Given the description of an element on the screen output the (x, y) to click on. 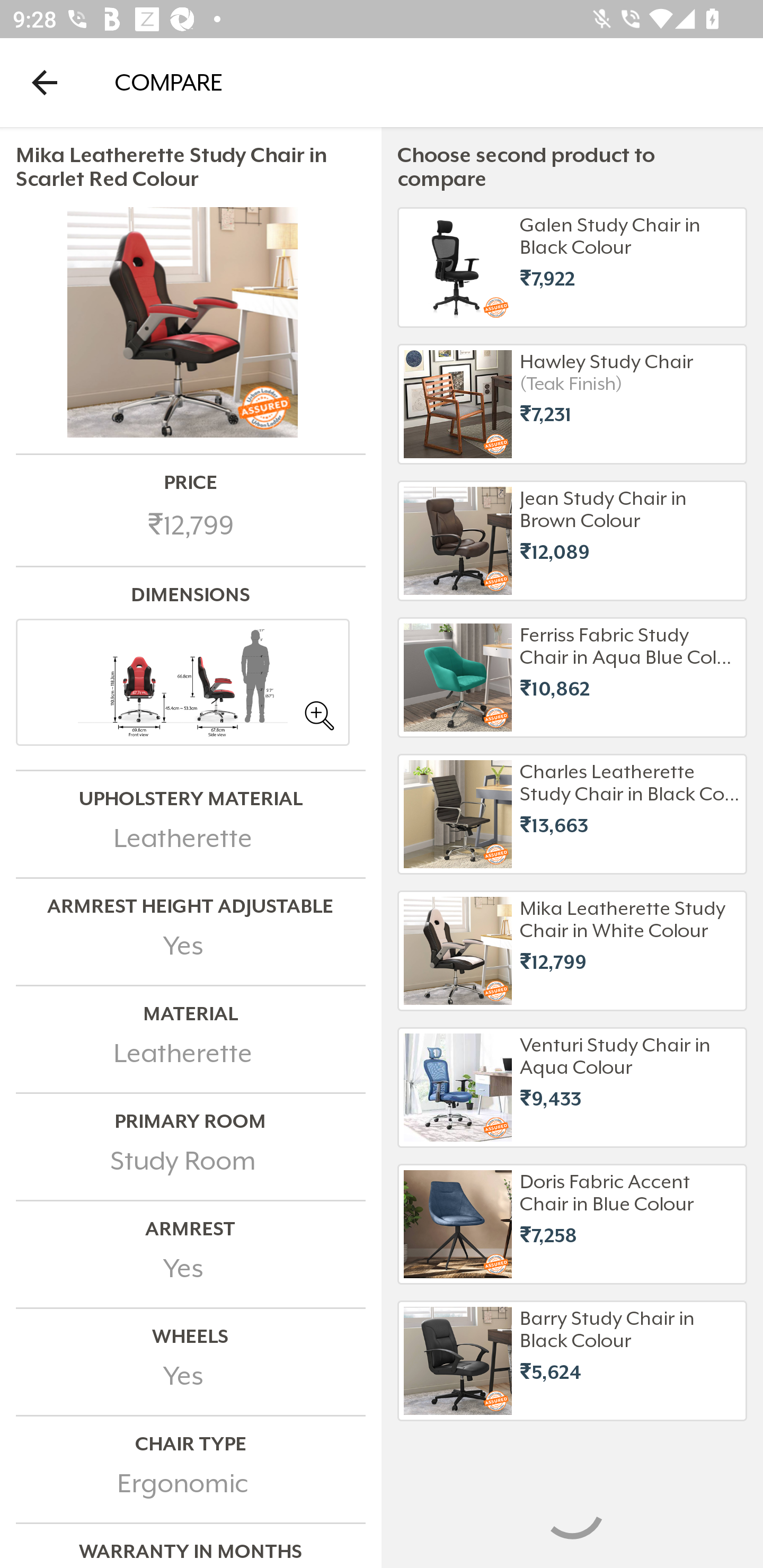
Navigate up (44, 82)
Galen Study Chair in Black Colour ₹7,922 (571, 266)
Hawley Study Chair (Teak Finish) ₹7,231 (571, 403)
Jean Study Chair in Brown Colour ₹12,089 (571, 539)
Venturi Study Chair in Aqua Colour ₹9,433 (571, 1087)
Doris Fabric Accent Chair in Blue Colour ₹7,258 (571, 1223)
Barry Study Chair in Black Colour ₹5,624 (571, 1359)
